Given the description of an element on the screen output the (x, y) to click on. 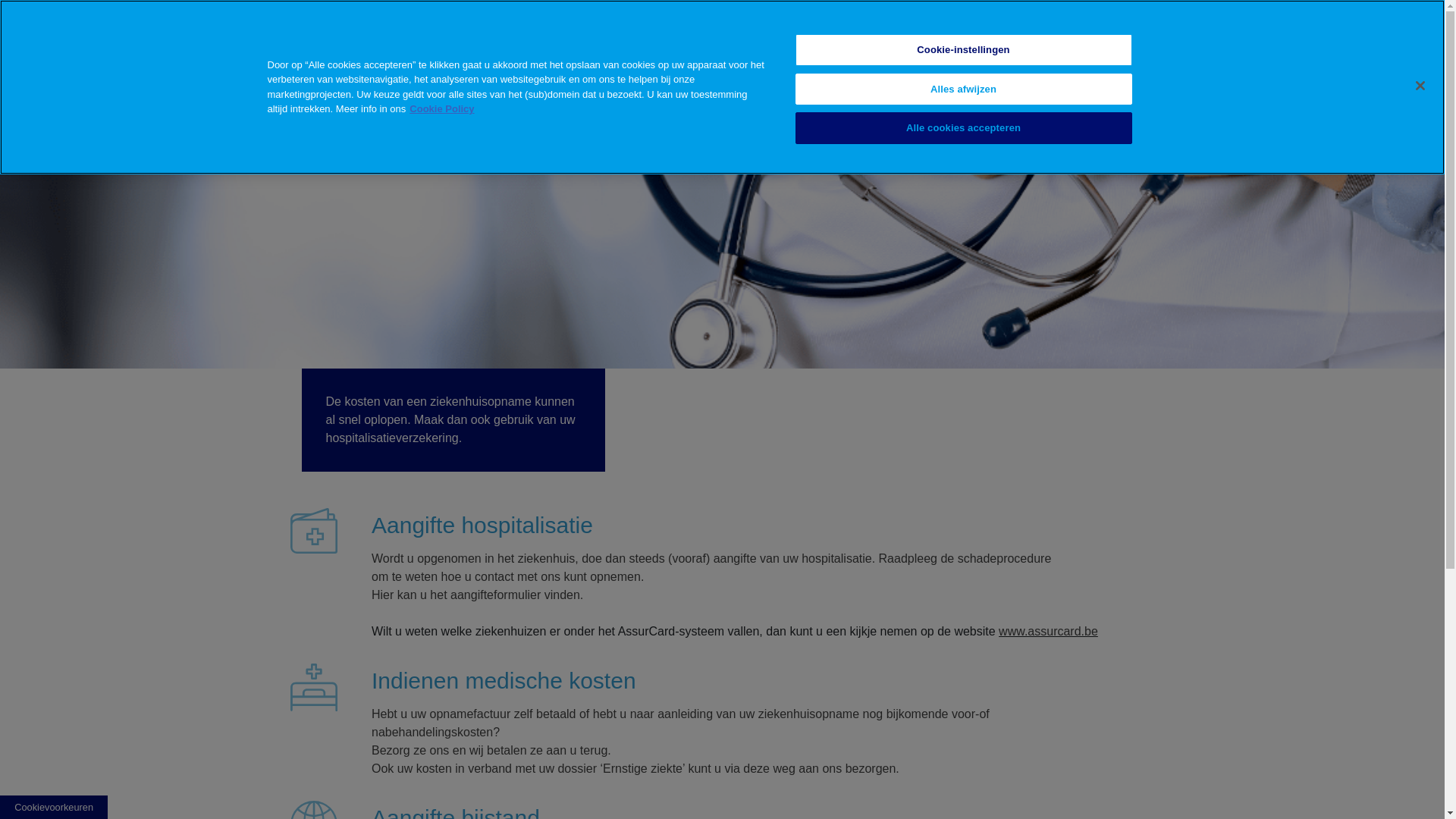
Cookie-instellingen Element type: text (962, 49)
Alles afwijzen Element type: text (962, 89)
FR Element type: text (1318, 29)
Cookie Policy Element type: text (441, 108)
Schadeaangifte hospitalisatie Element type: text (669, 32)
Vragen Element type: text (1178, 32)
www.assurcard.be Element type: text (1048, 630)
Aangifte hospitalisatie Element type: text (482, 524)
Indienen medische kosten Element type: text (865, 32)
Waarborg Bijstand Element type: text (1035, 32)
Alle cookies accepteren Element type: text (962, 128)
Indienen medische kosten Element type: text (503, 680)
